Given the description of an element on the screen output the (x, y) to click on. 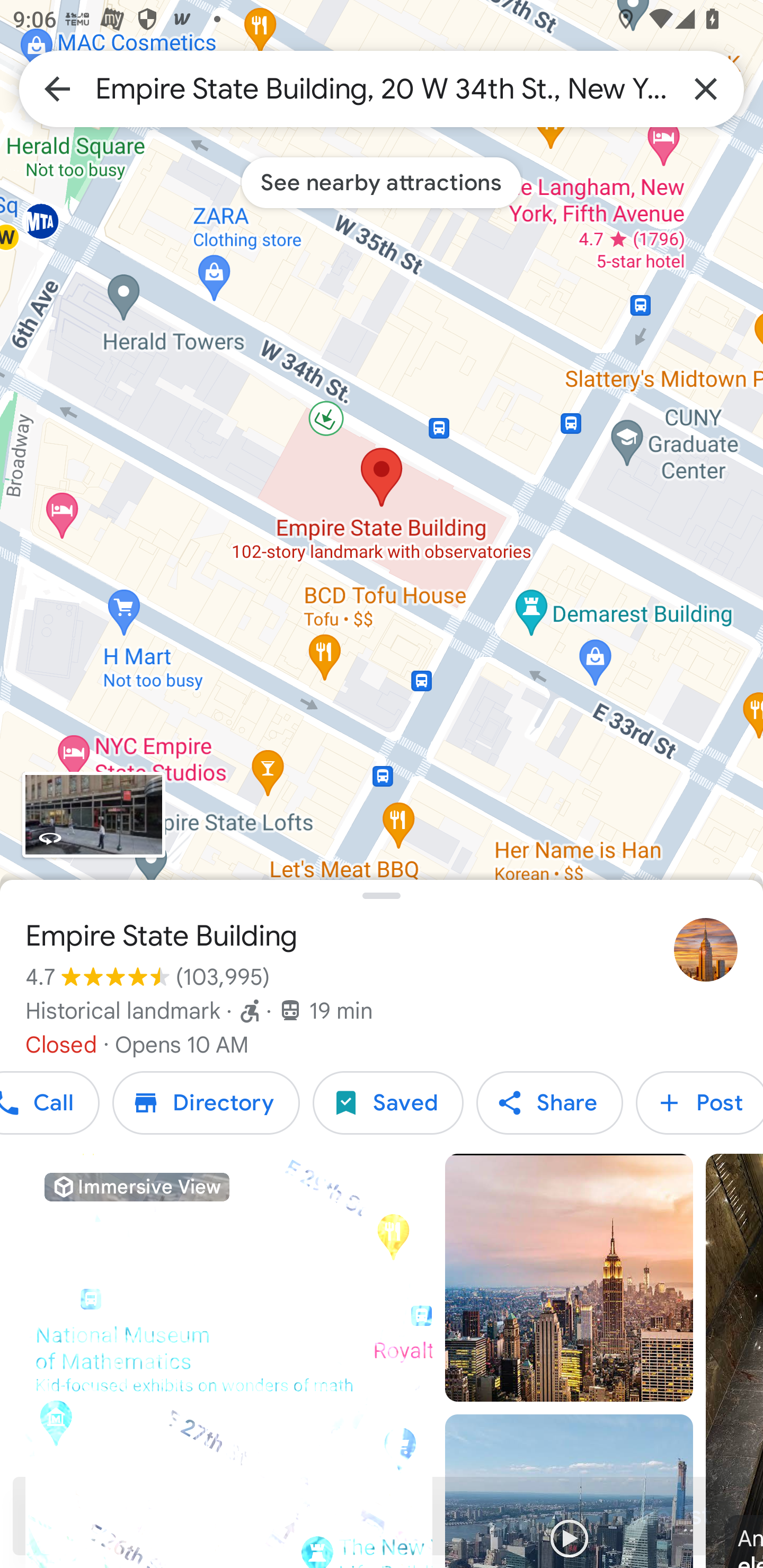
Back (57, 88)
Clear (705, 88)
See nearby attractions (381, 182)
View Street view imagery for Empire State Building (93, 814)
Directory Directory Directory (205, 1102)
Post Post Post (699, 1102)
Video Immersive View (228, 1361)
Photo (568, 1277)
Video (568, 1491)
